Given the description of an element on the screen output the (x, y) to click on. 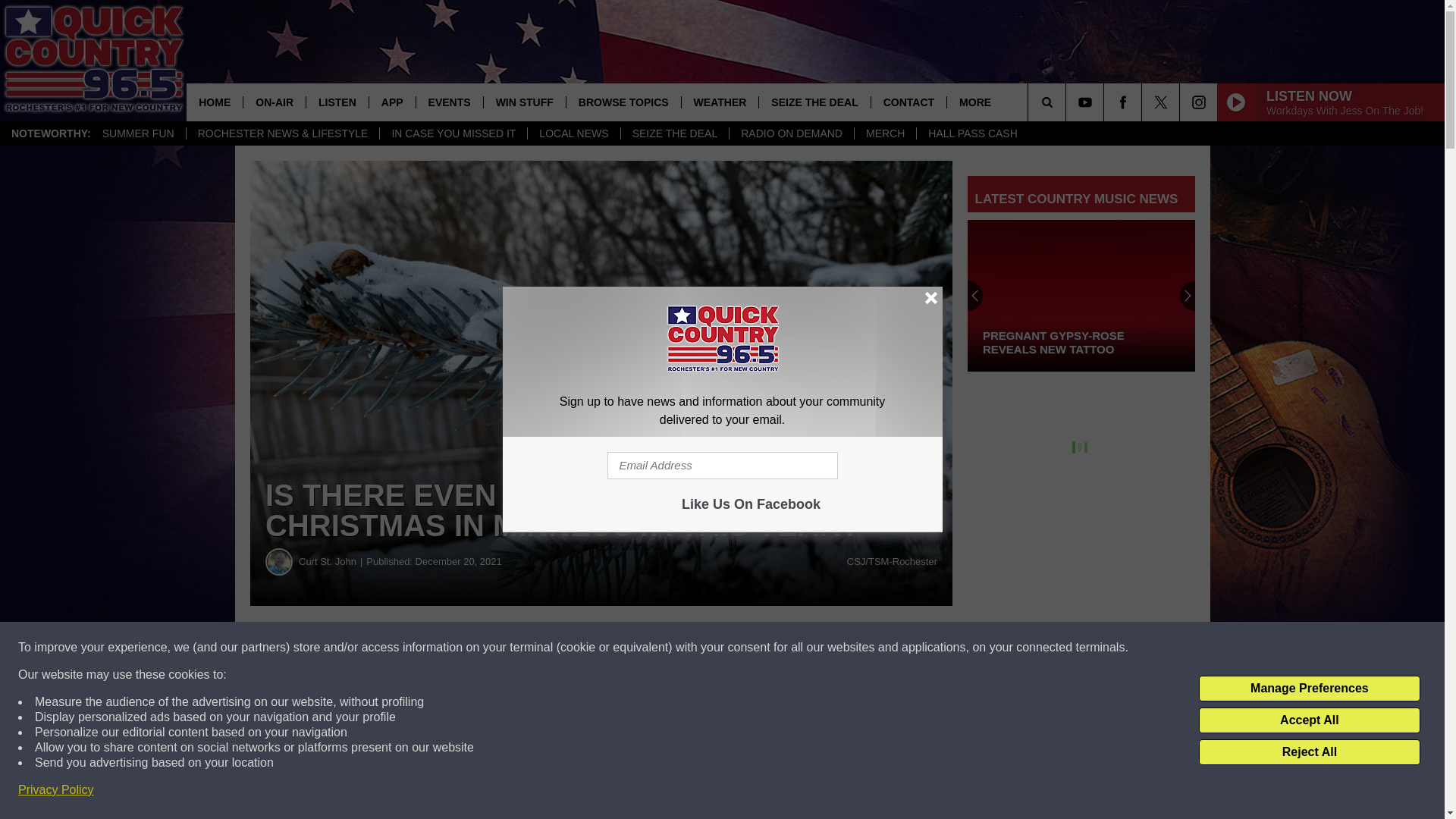
HOME (214, 102)
Share on Facebook (460, 647)
Email Address (722, 465)
ON-AIR (274, 102)
Privacy Policy (55, 789)
SEARCH (1068, 102)
SEARCH (1068, 102)
APP (391, 102)
SEIZE THE DEAL (674, 133)
EVENTS (448, 102)
IN CASE YOU MISSED IT (452, 133)
SUMMER FUN (138, 133)
LISTEN (336, 102)
HALL PASS CASH (972, 133)
MERCH (884, 133)
